Given the description of an element on the screen output the (x, y) to click on. 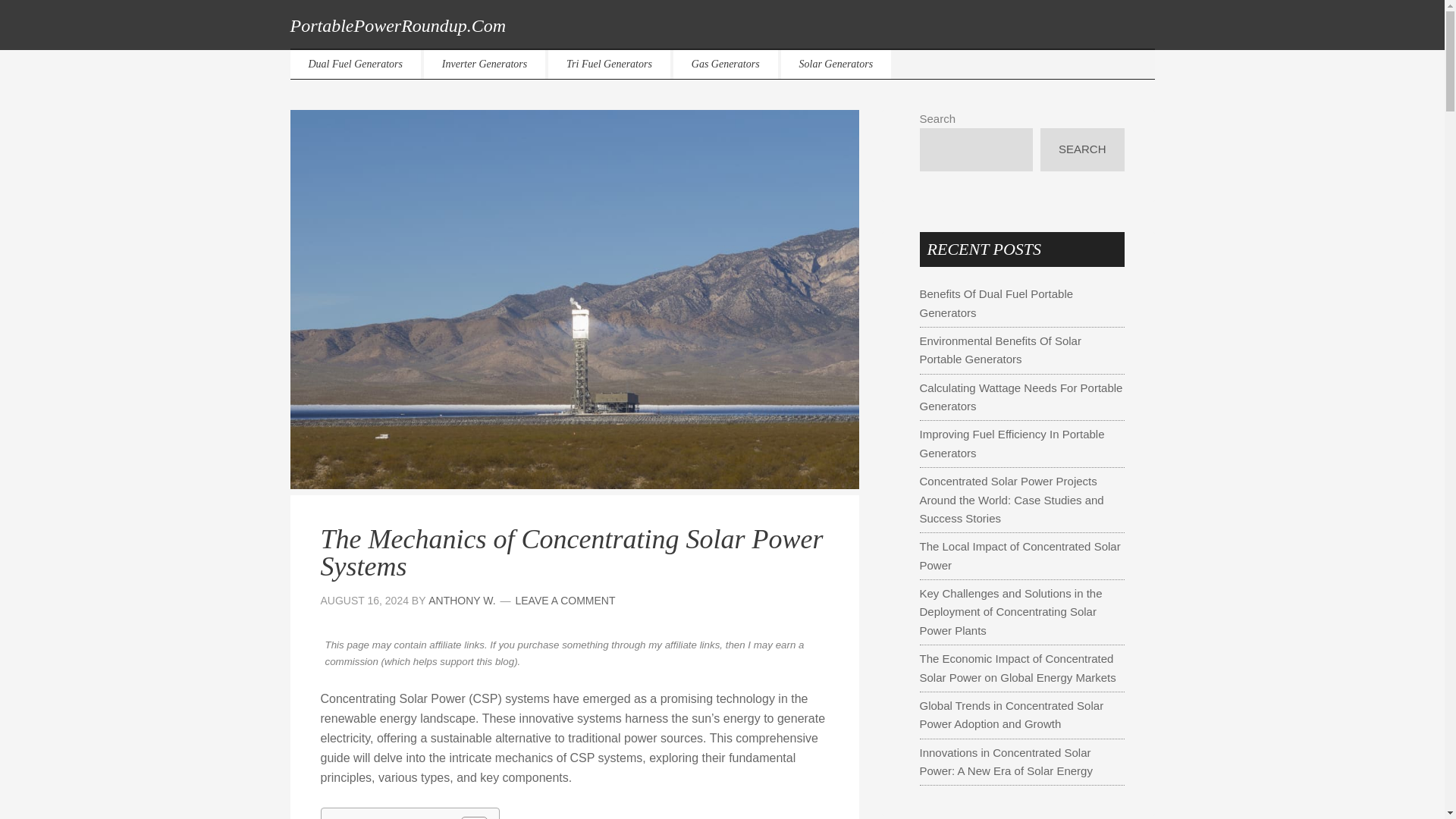
PortablePowerRoundup.Com (397, 25)
Dual Fuel Generators (354, 63)
Tri Fuel Generators (608, 63)
Inverter Generators (483, 63)
LEAVE A COMMENT (565, 600)
Solar Generators (835, 63)
ANTHONY W. (461, 600)
Gas Generators (724, 63)
